Given the description of an element on the screen output the (x, y) to click on. 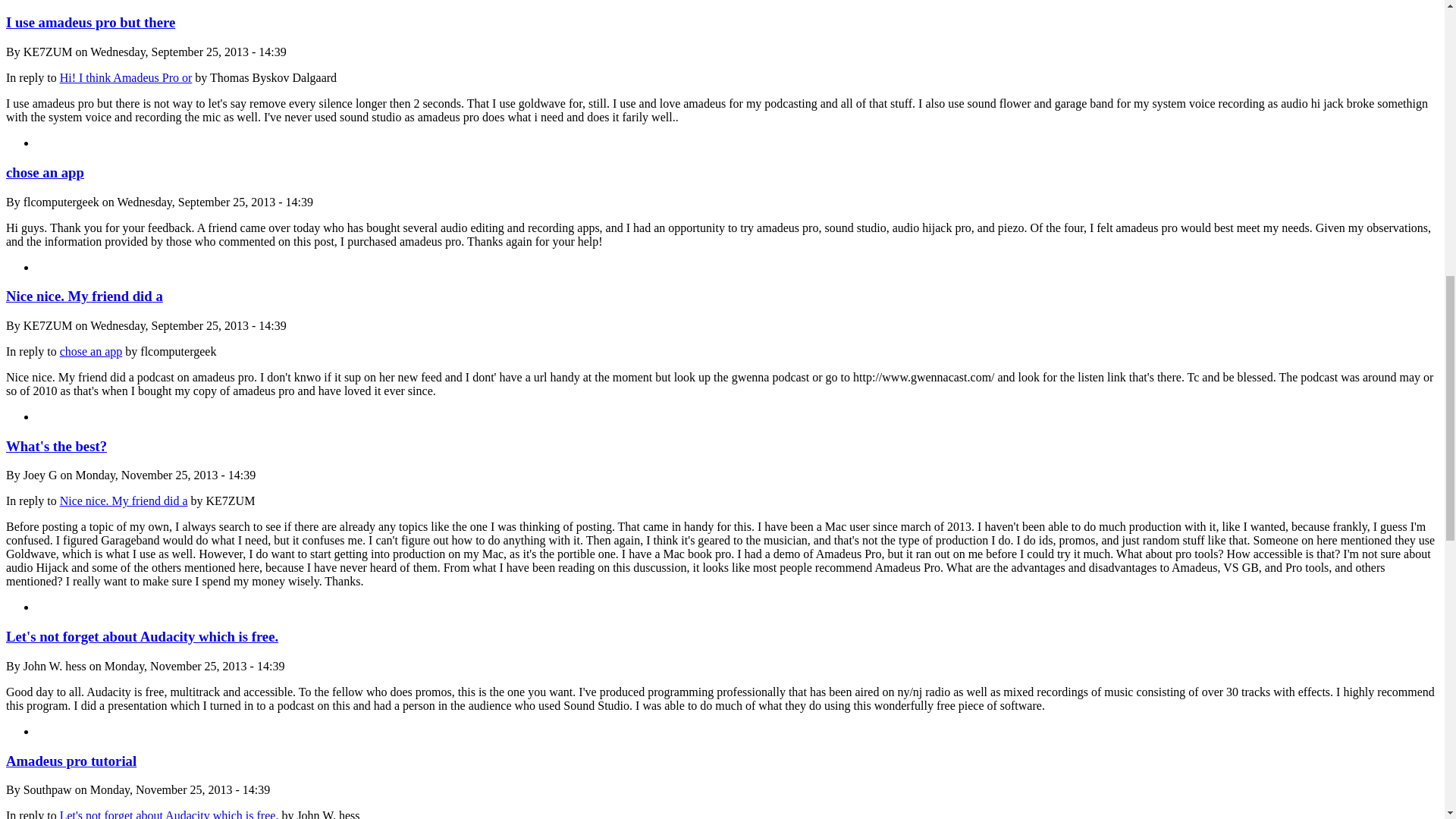
Hi! I think Amadeus Pro or (125, 77)
Nice nice. My friend did a (123, 500)
I use amadeus pro but there (89, 22)
Let's not forget about Audacity which is free. (169, 814)
Amadeus pro tutorial (70, 760)
Nice nice. My friend did a (84, 295)
Let's not forget about Audacity which is free. (141, 636)
chose an app (90, 350)
What's the best? (55, 446)
chose an app (44, 172)
